Given the description of an element on the screen output the (x, y) to click on. 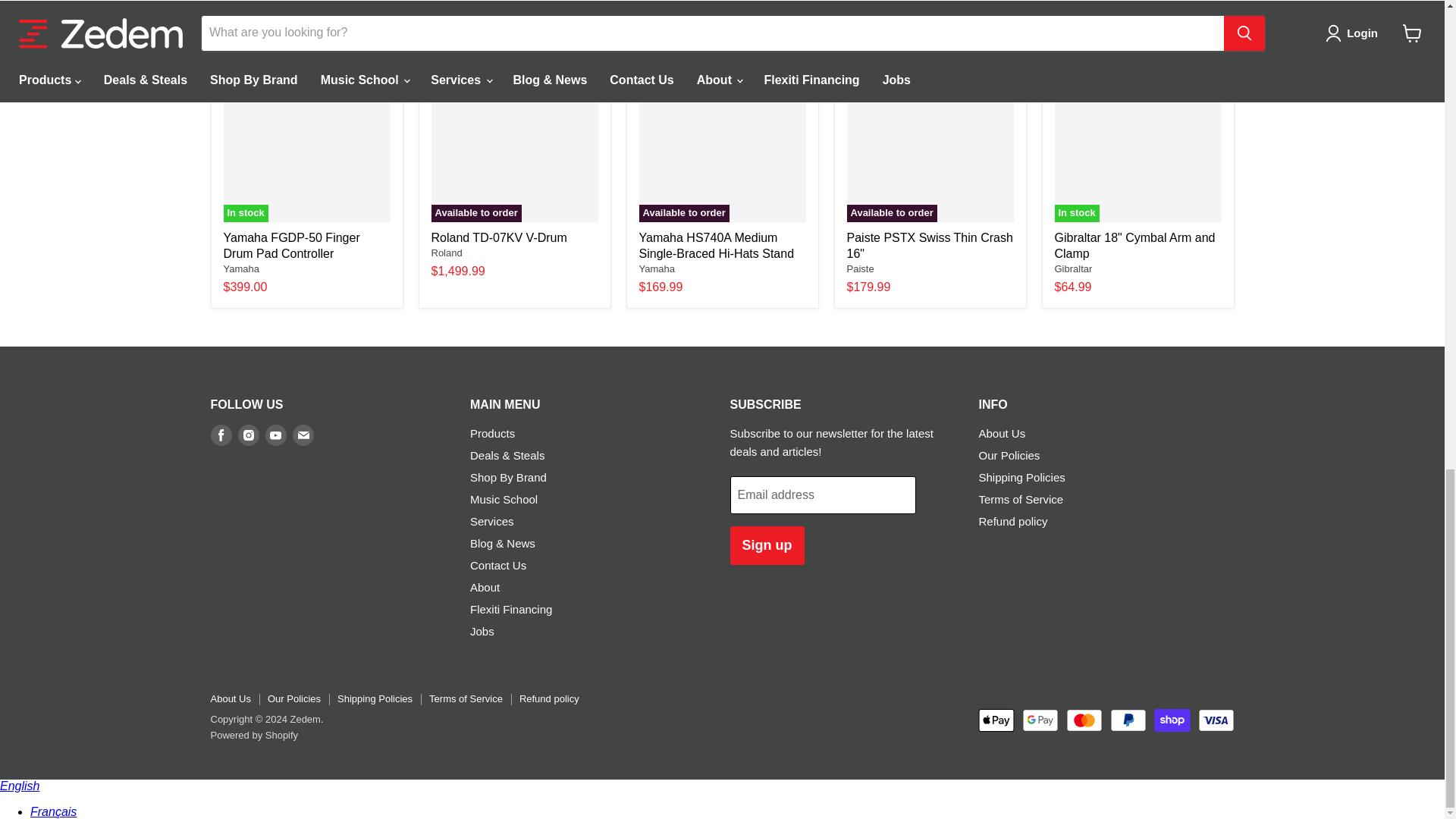
Gibraltar (1073, 268)
Roland (445, 252)
Email (303, 435)
Facebook (221, 435)
Yamaha (656, 268)
Yamaha (240, 268)
Instagram (248, 435)
Paiste (859, 268)
Youtube (275, 435)
